Given the description of an element on the screen output the (x, y) to click on. 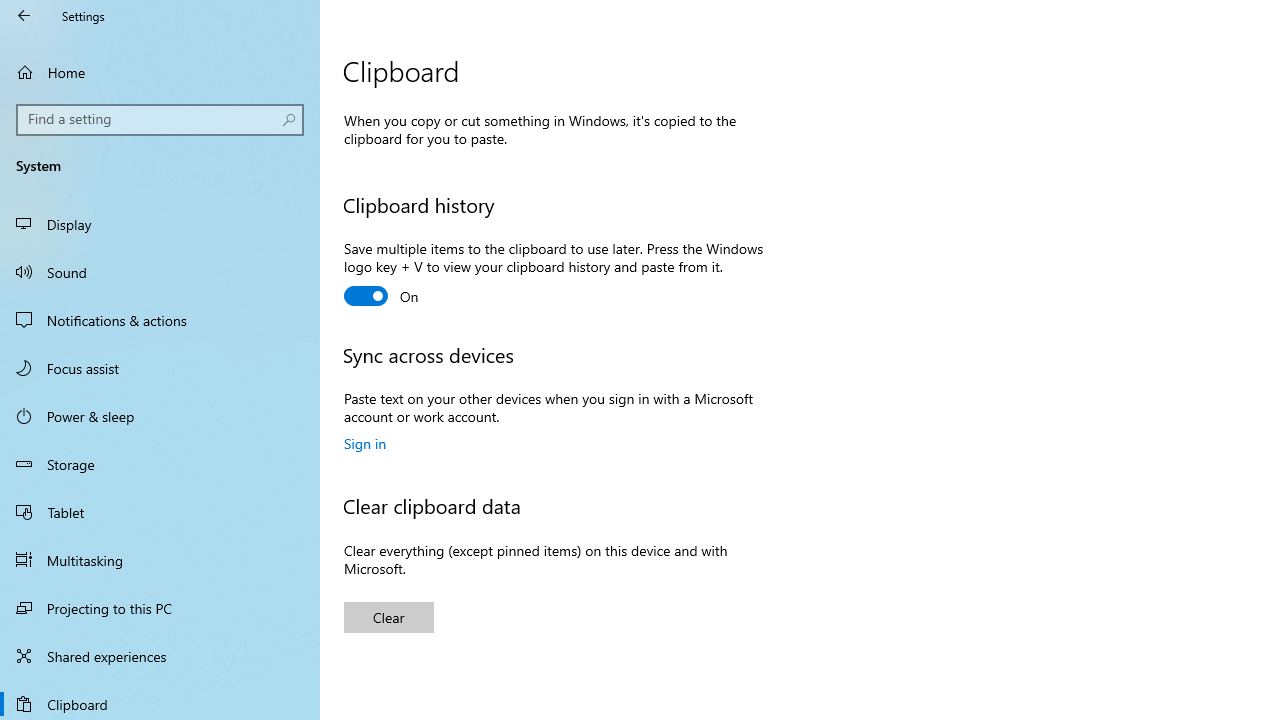
Projecting to this PC (160, 607)
Storage (160, 463)
Back (24, 15)
Sign in (365, 443)
Power & sleep (160, 415)
Home (160, 71)
Display (160, 223)
Sound (160, 271)
Notifications & actions (160, 319)
Multitasking (160, 559)
Tablet (160, 511)
Shared experiences (160, 655)
Search box, Find a setting (160, 119)
Focus assist (160, 367)
